Given the description of an element on the screen output the (x, y) to click on. 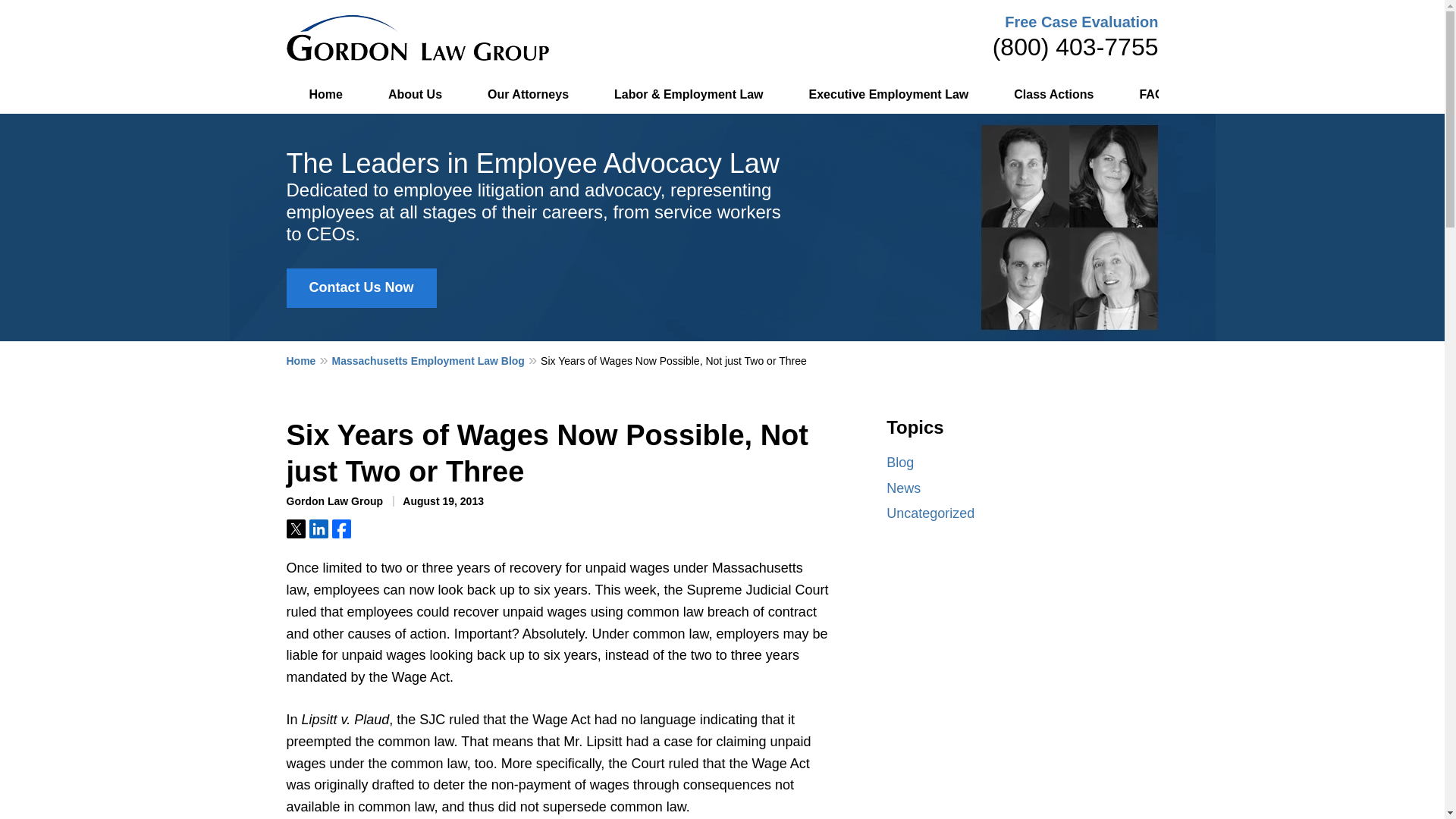
Our Attorneys (527, 94)
About Us (414, 94)
Executive Employment Law (888, 94)
Home (325, 94)
Free Case Evaluation (1080, 21)
